Given the description of an element on the screen output the (x, y) to click on. 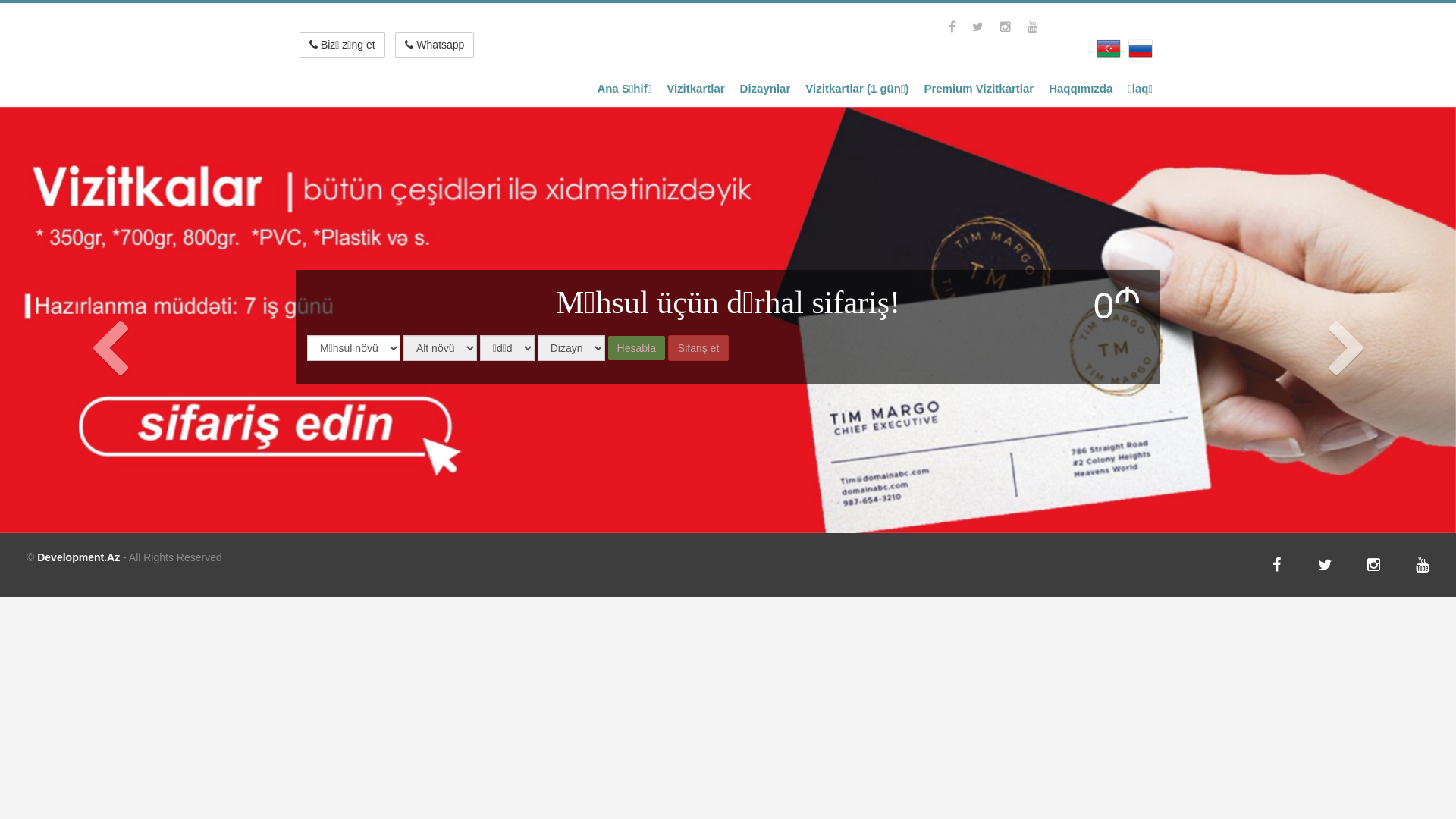
Development.Az Element type: text (78, 557)
Dizaynlar Element type: text (765, 89)
Premium Vizitkartlar Element type: text (978, 89)
Hesabla Element type: text (636, 347)
Whatsapp Element type: text (434, 44)
Previous Element type: text (109, 425)
Vizitkartlar Element type: text (694, 89)
